Given the description of an element on the screen output the (x, y) to click on. 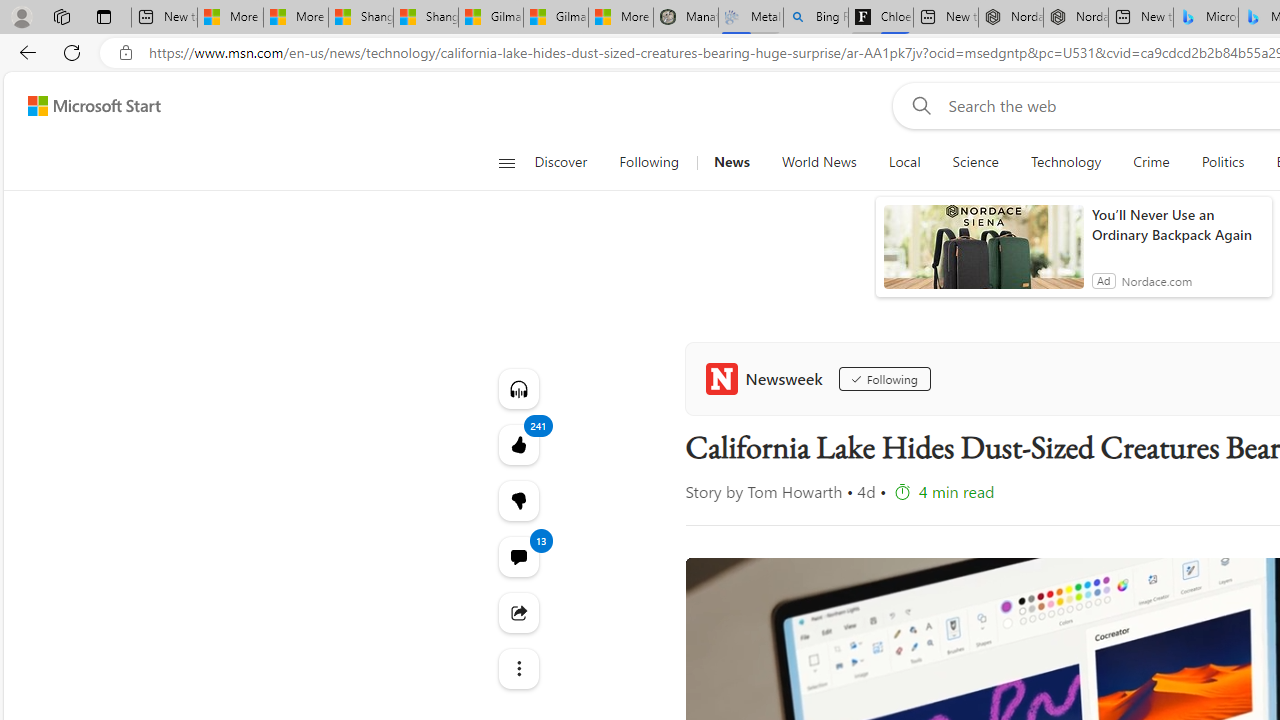
Science (975, 162)
Open navigation menu (506, 162)
Technology (1066, 162)
Listen to this article (517, 388)
Microsoft Bing Travel - Stays in Bangkok, Bangkok, Thailand (1205, 17)
